Given the description of an element on the screen output the (x, y) to click on. 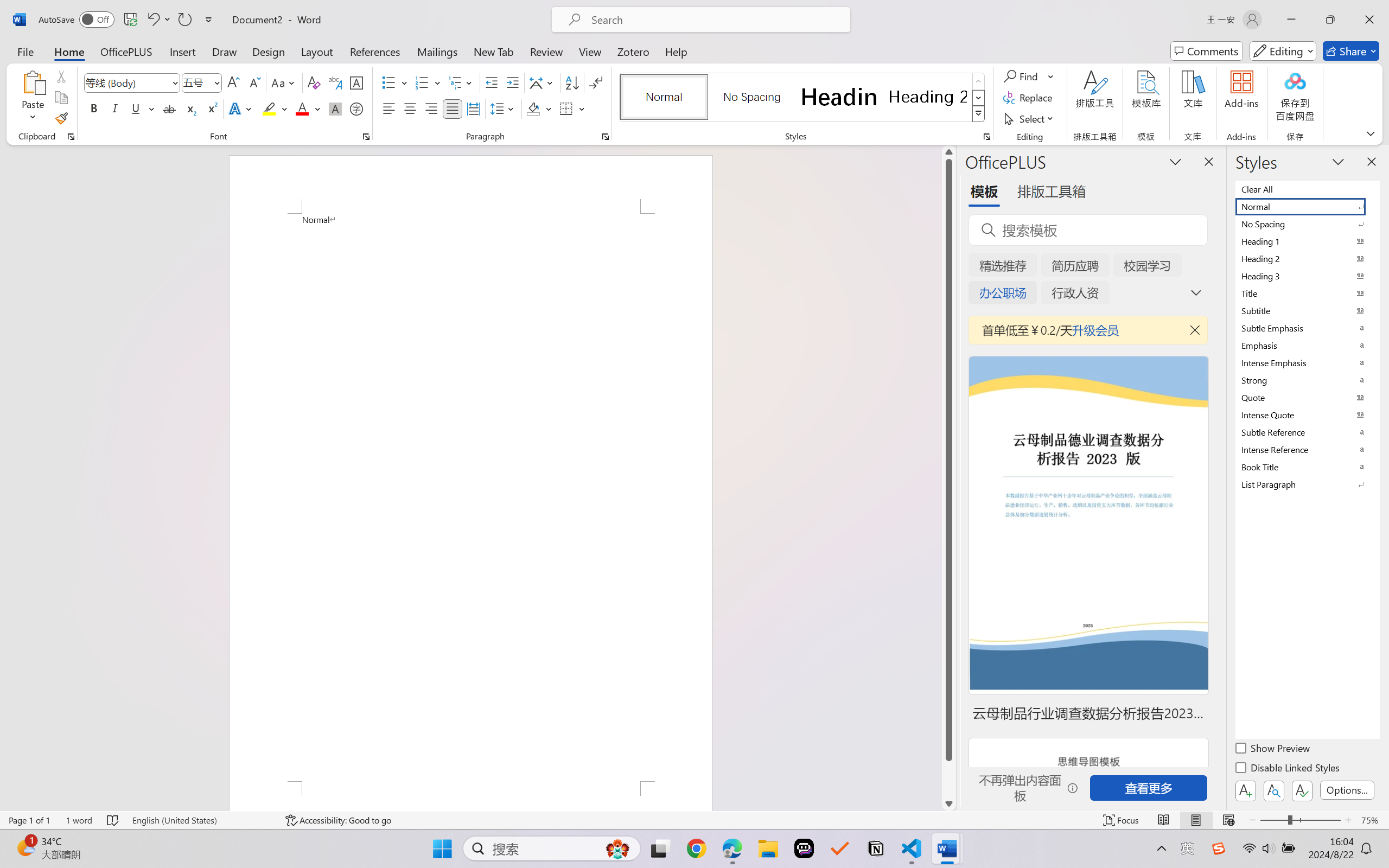
Subtitle (1306, 310)
Comments (1206, 50)
Shading RGB(0, 0, 0) (533, 108)
Class: NetUIImage (978, 114)
AutomationID: BadgeAnchorLargeTicker (24, 847)
Zoom Out (1273, 819)
Find (1029, 75)
Bullets (388, 82)
Class: NetUIScrollBar (948, 477)
Font (132, 82)
Cut (60, 75)
